Given the description of an element on the screen output the (x, y) to click on. 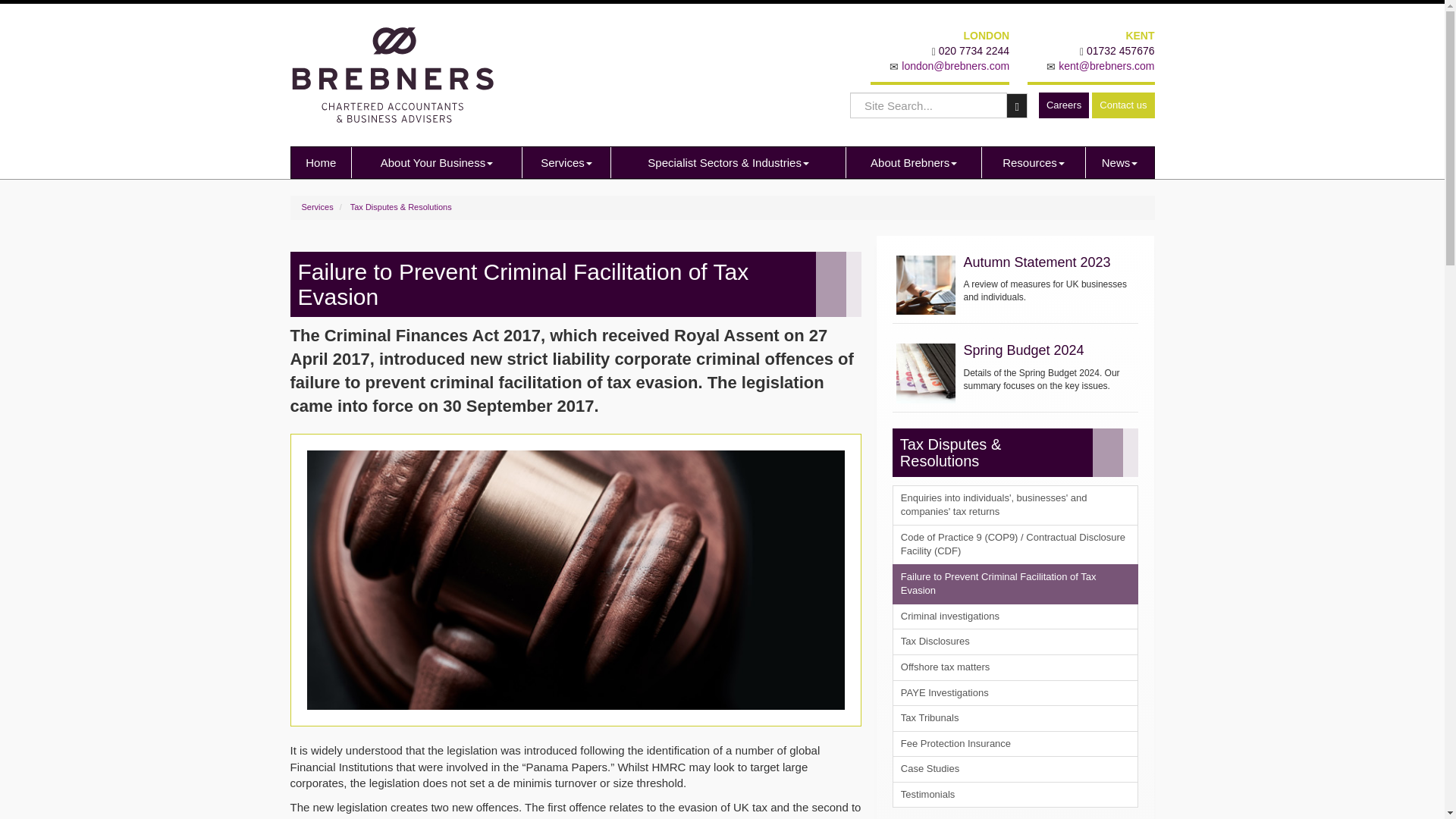
Services (566, 162)
Home (321, 162)
About Your Business (436, 162)
Services (566, 162)
Contact us (1123, 104)
About Your Business (436, 162)
Careers (1064, 104)
Home (321, 162)
